Given the description of an element on the screen output the (x, y) to click on. 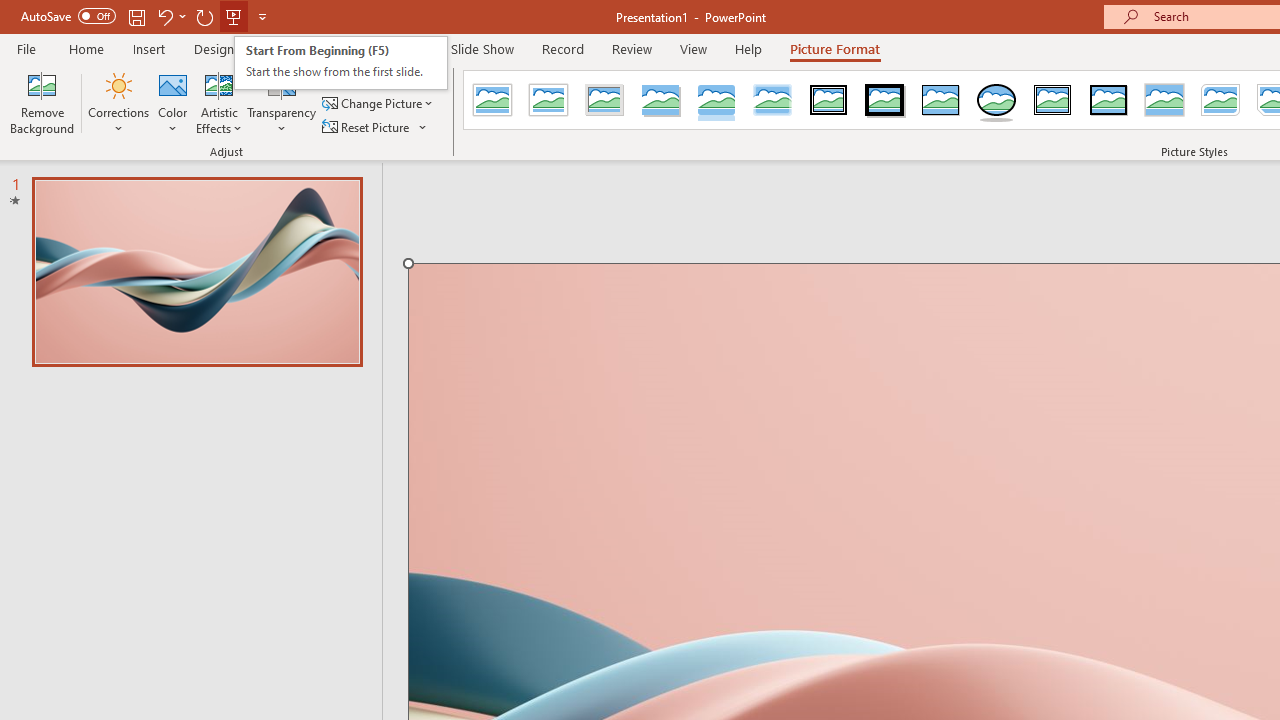
Save (136, 15)
Corrections (118, 102)
Rounded Diagonal Corner, White (1220, 100)
Remove Background (41, 102)
File Tab (26, 48)
Animations (388, 48)
AutoSave (68, 16)
Transitions (294, 48)
Customize Quick Access Toolbar (262, 15)
Change Picture (379, 103)
Artistic Effects (219, 102)
Record (562, 48)
Beveled Oval, Black (996, 100)
Compress Pictures... (381, 78)
